Given the description of an element on the screen output the (x, y) to click on. 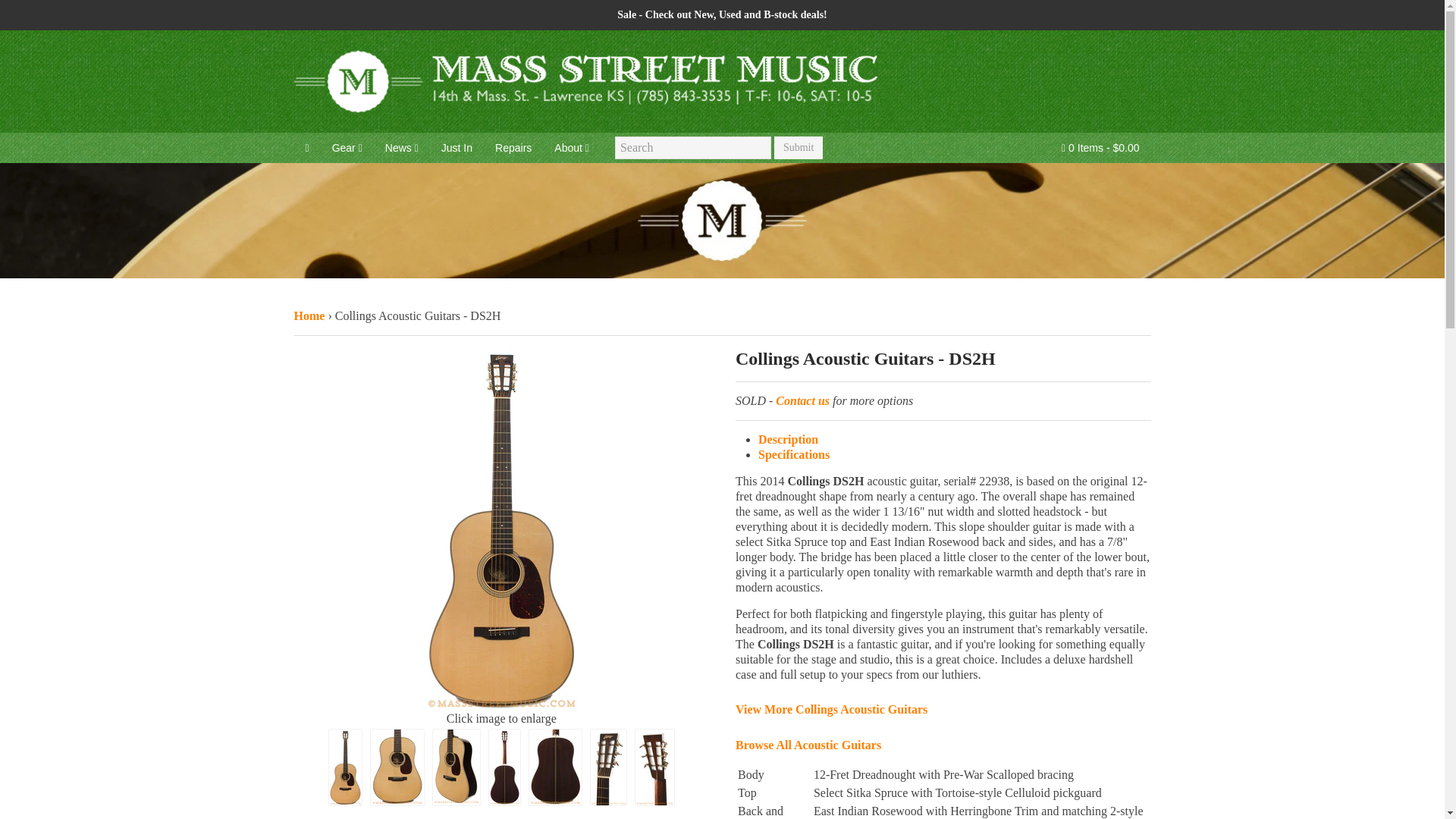
Home (309, 315)
Gear (347, 147)
Collings Acoustic Guitars at Mass Street Music (831, 708)
Acoustic Guitars at Mass Street Music (807, 744)
